Given the description of an element on the screen output the (x, y) to click on. 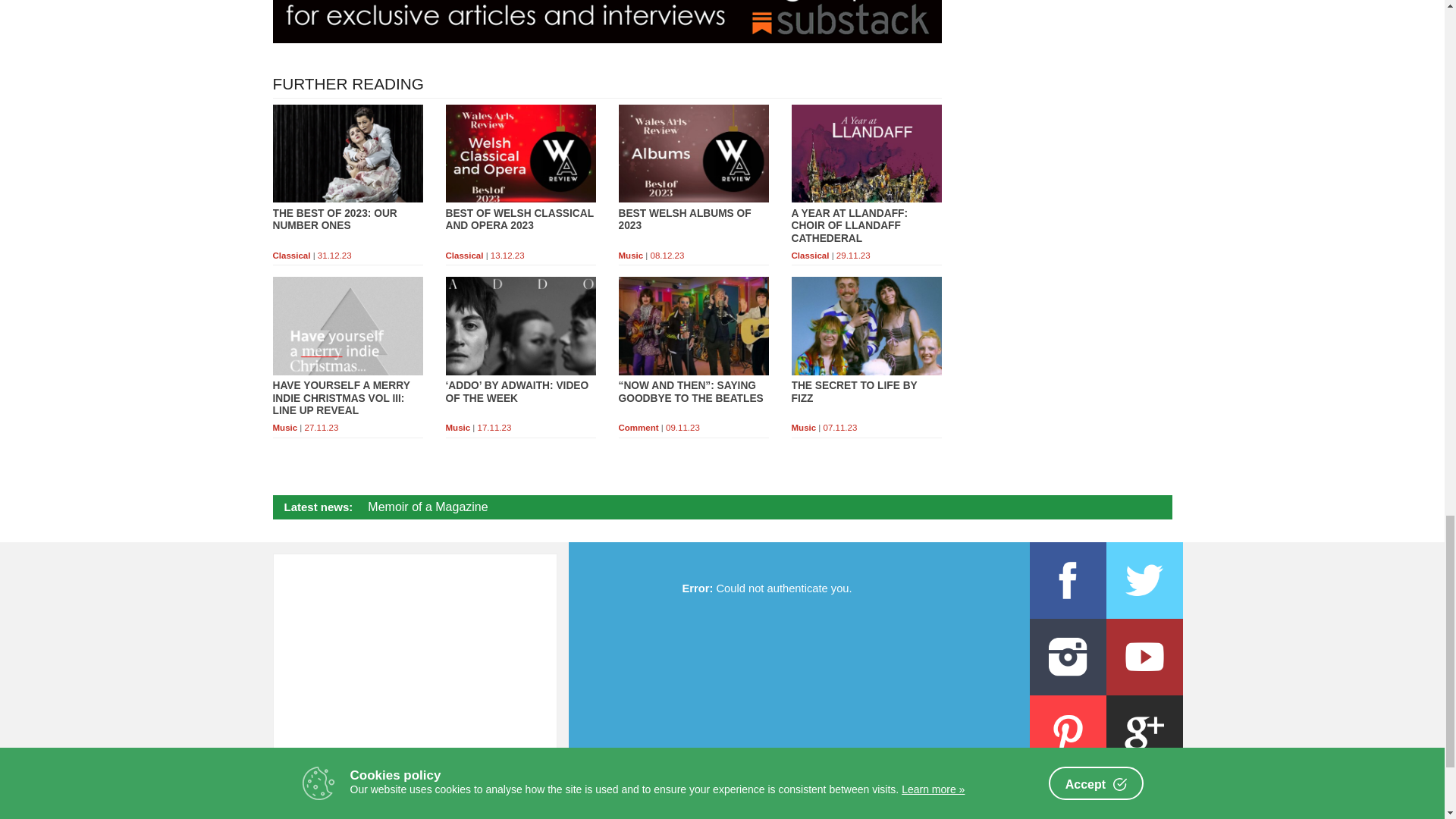
Memoir of a Magazine (427, 506)
